Given the description of an element on the screen output the (x, y) to click on. 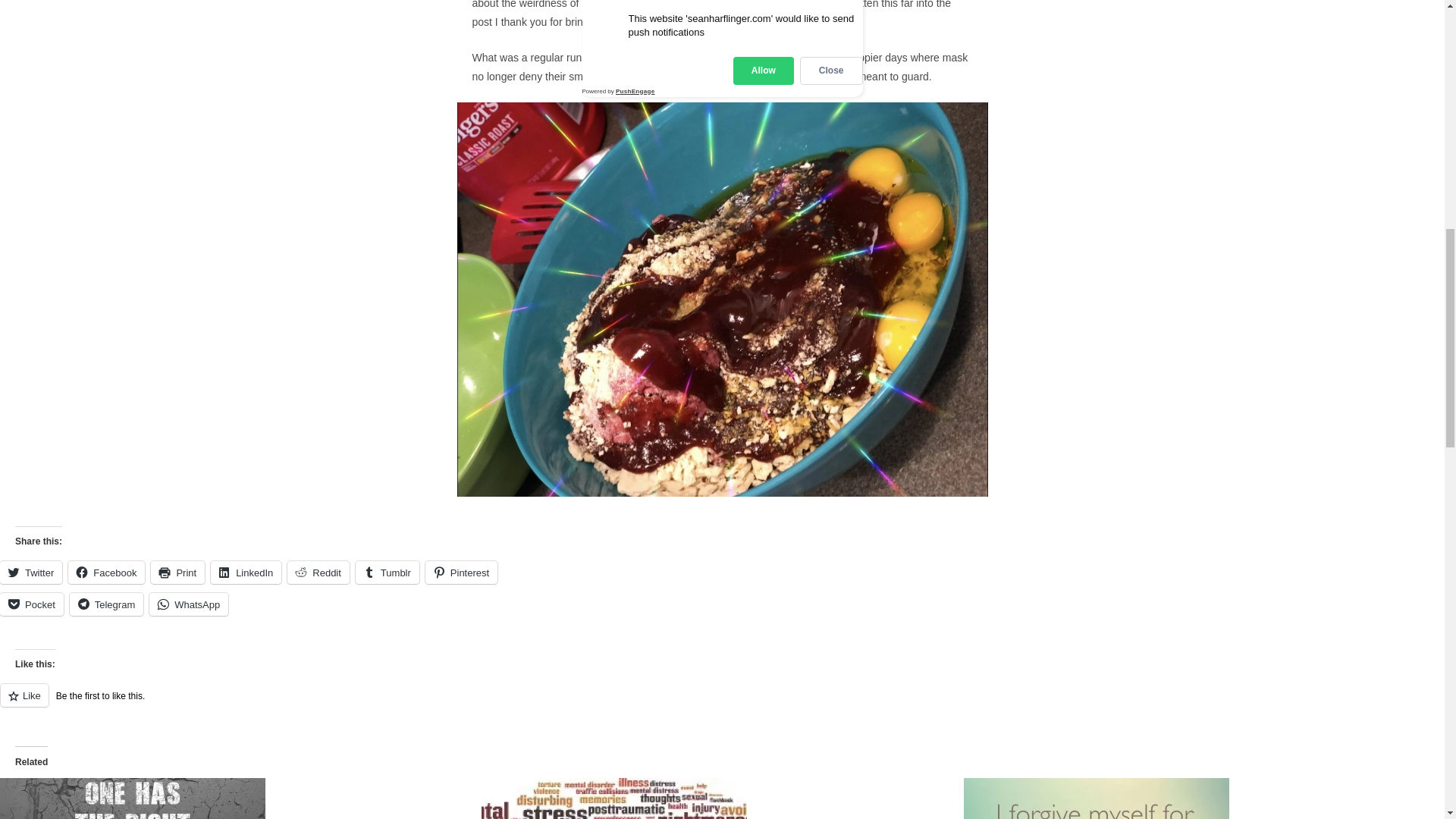
LinkedIn (246, 572)
Click to share on Facebook (106, 572)
Click to share on LinkedIn (246, 572)
Reddit (317, 572)
Twitter (31, 572)
Pinterest (461, 572)
Pocket (32, 603)
Click to print (178, 572)
Print (178, 572)
Click to share on Reddit (317, 572)
Tumblr (387, 572)
Click to share on Twitter (31, 572)
Click to share on Pinterest (461, 572)
Facebook (106, 572)
Click to share on Tumblr (387, 572)
